Given the description of an element on the screen output the (x, y) to click on. 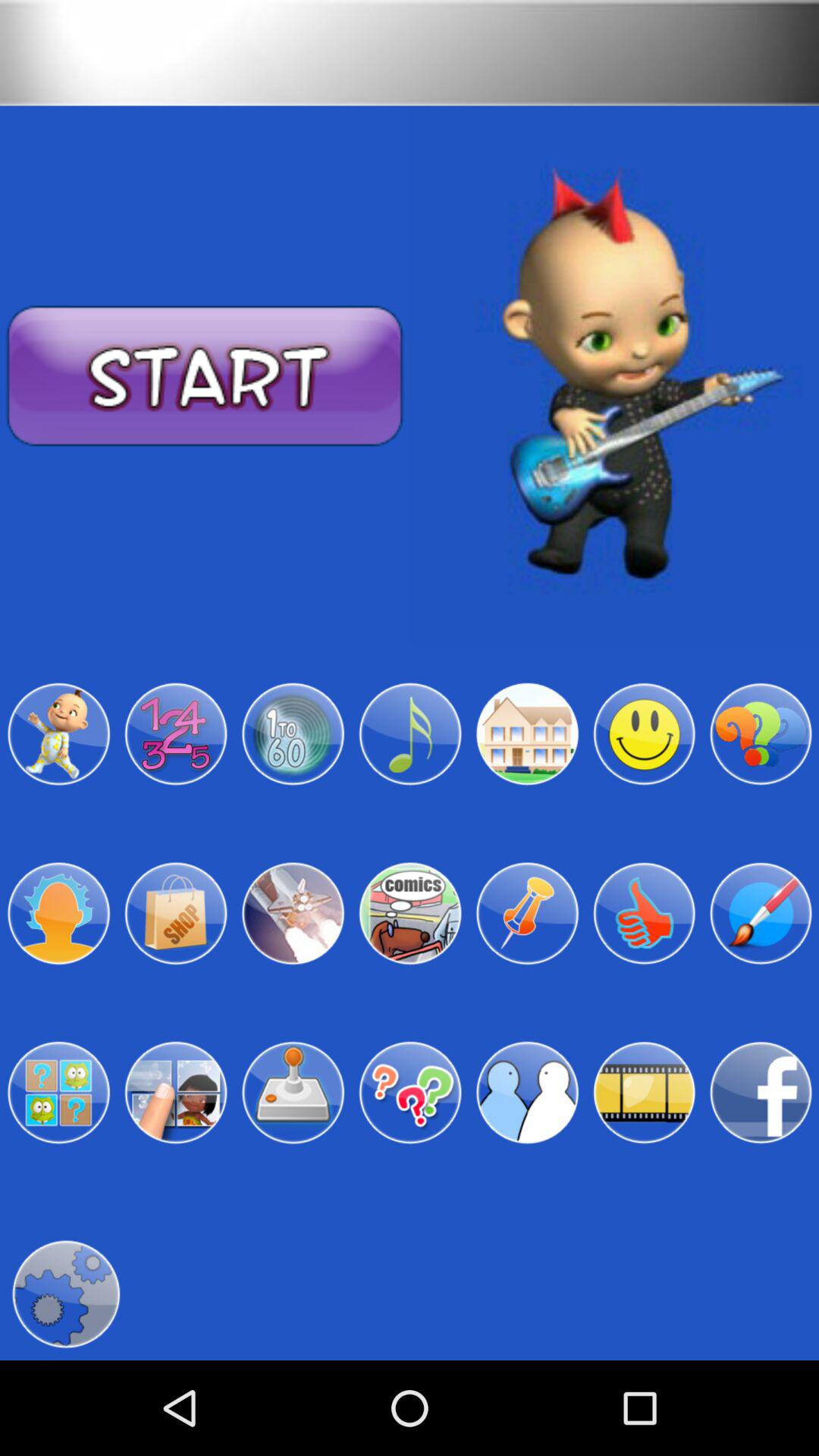
start button (204, 375)
